Given the description of an element on the screen output the (x, y) to click on. 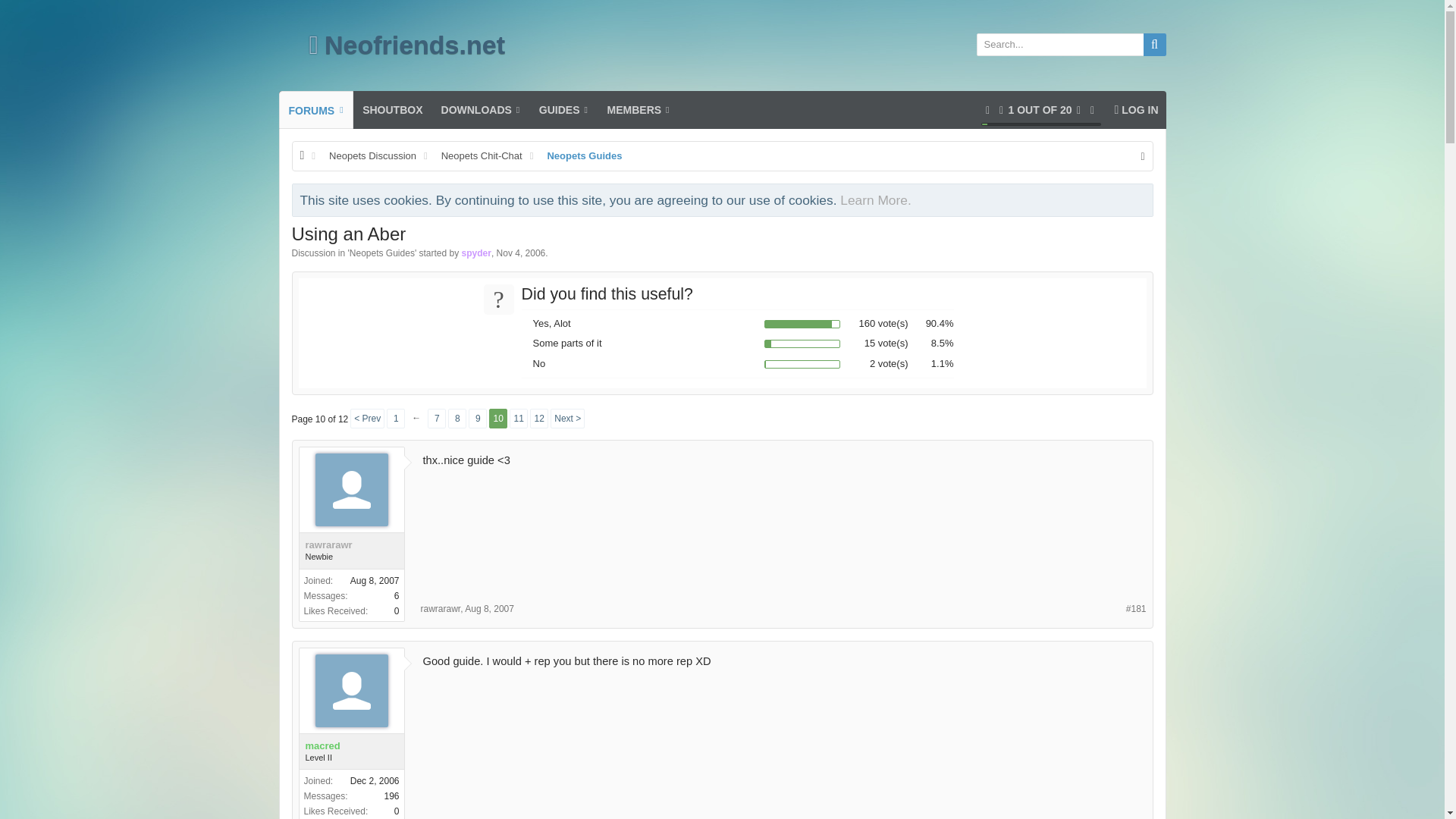
Nov 4, 2006 at 6:00 PM (521, 253)
Permalink (488, 608)
Permalink (1136, 609)
Enter your search and hit enter (477, 418)
